Given the description of an element on the screen output the (x, y) to click on. 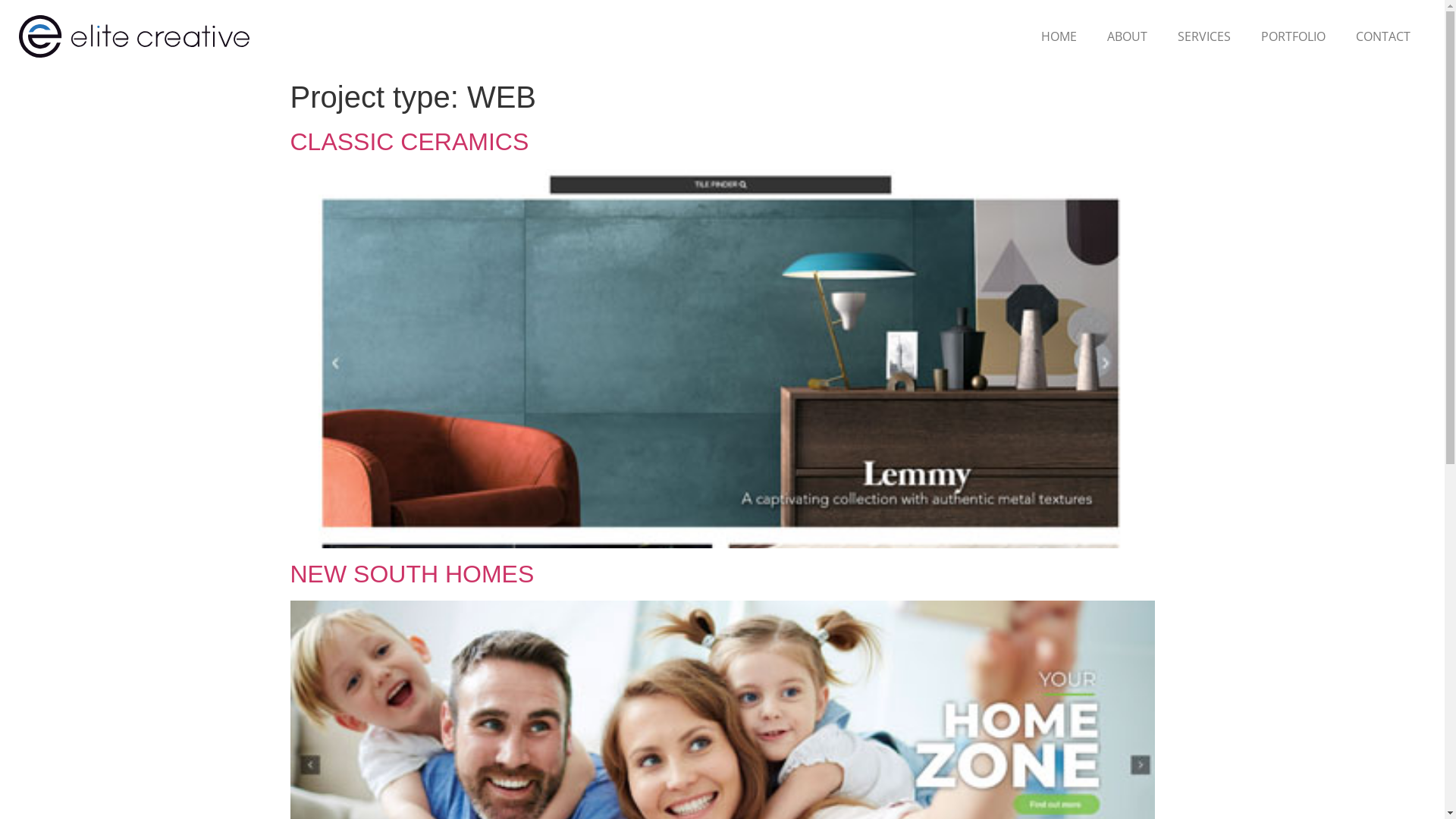
CLASSIC CERAMICS Element type: text (408, 141)
NEW SOUTH HOMES Element type: text (411, 573)
PORTFOLIO Element type: text (1292, 35)
ABOUT Element type: text (1127, 35)
SERVICES Element type: text (1203, 35)
HOME Element type: text (1059, 35)
CONTACT Element type: text (1382, 35)
